Given the description of an element on the screen output the (x, y) to click on. 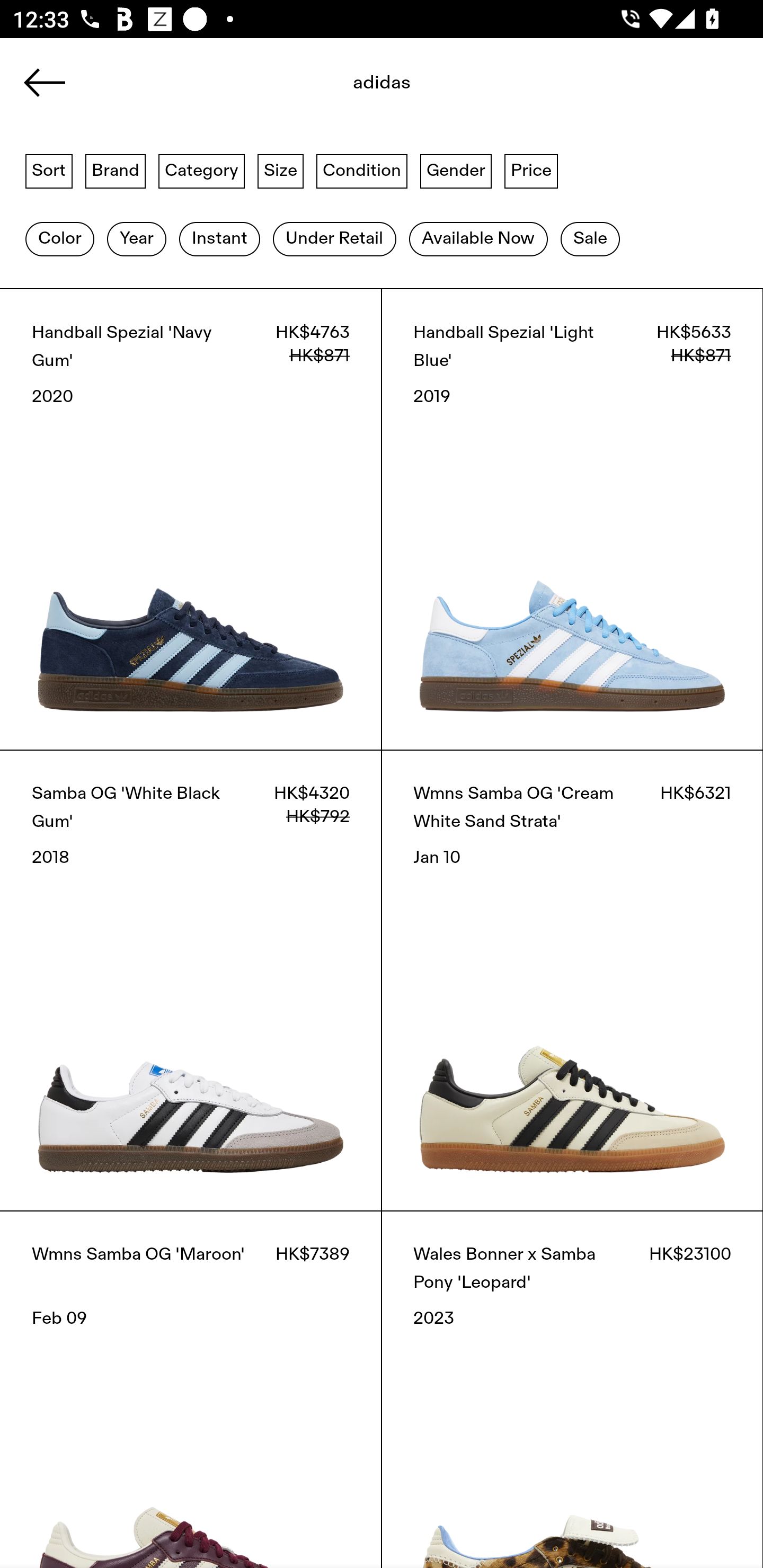
flats (381, 88)
Sort (48, 170)
Brand (115, 170)
Category (201, 170)
Size (280, 170)
Condition (361, 170)
Gender (455, 170)
Price (530, 170)
Color (59, 239)
Year (136, 239)
Instant (219, 239)
Under Retail (334, 239)
Available Now (477, 239)
Sale (589, 239)
Handball Spezial 'Navy Gum' HK$4763 HK$871 2020 (190, 518)
Handball Spezial 'Light Blue' HK$5633 HK$871 2019 (572, 518)
Samba OG 'White Black Gum' HK$4320 HK$792 2018 (190, 979)
Wmns Samba OG 'Maroon' HK$7389 Feb 09 (190, 1389)
Wales Bonner x Samba Pony 'Leopard' HK$23100 2023 (572, 1389)
